Given the description of an element on the screen output the (x, y) to click on. 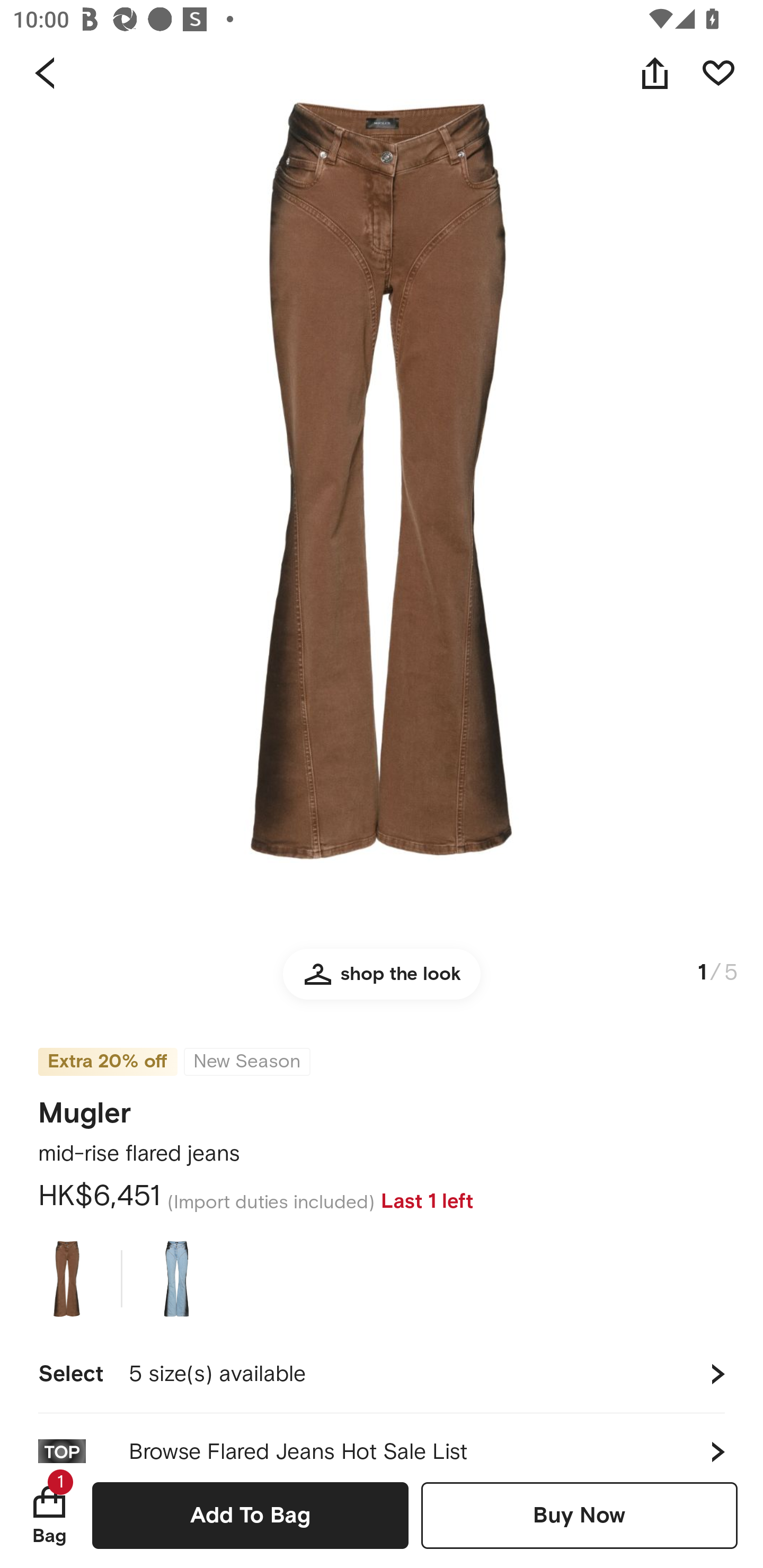
shop the look (381, 982)
Extra 20% off (107, 1061)
Mugler (84, 1107)
Select 5 size(s) available (381, 1373)
Browse Flared Jeans Hot Sale List (381, 1438)
Bag 1 (49, 1515)
Add To Bag (250, 1515)
Buy Now (579, 1515)
